Given the description of an element on the screen output the (x, y) to click on. 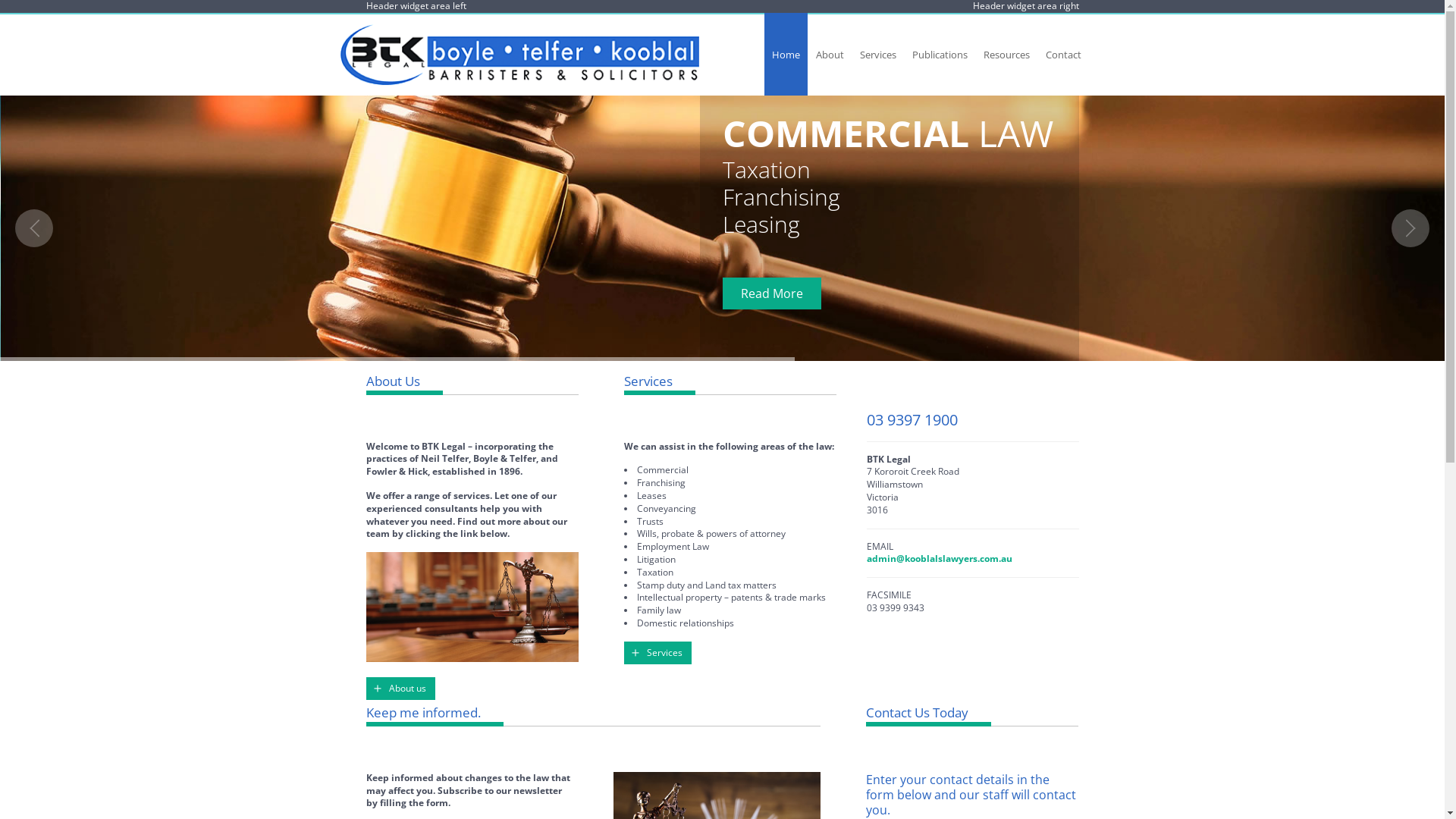
Services Element type: text (877, 54)
Read More Element type: text (770, 293)
Contact Element type: text (1063, 54)
Publications Element type: text (939, 54)
Resources Element type: text (1006, 54)
Home Element type: text (785, 53)
admin@kooblalslawyers.com.au Element type: text (938, 558)
Services Element type: text (656, 652)
About us Element type: text (399, 688)
About Element type: text (829, 54)
